Given the description of an element on the screen output the (x, y) to click on. 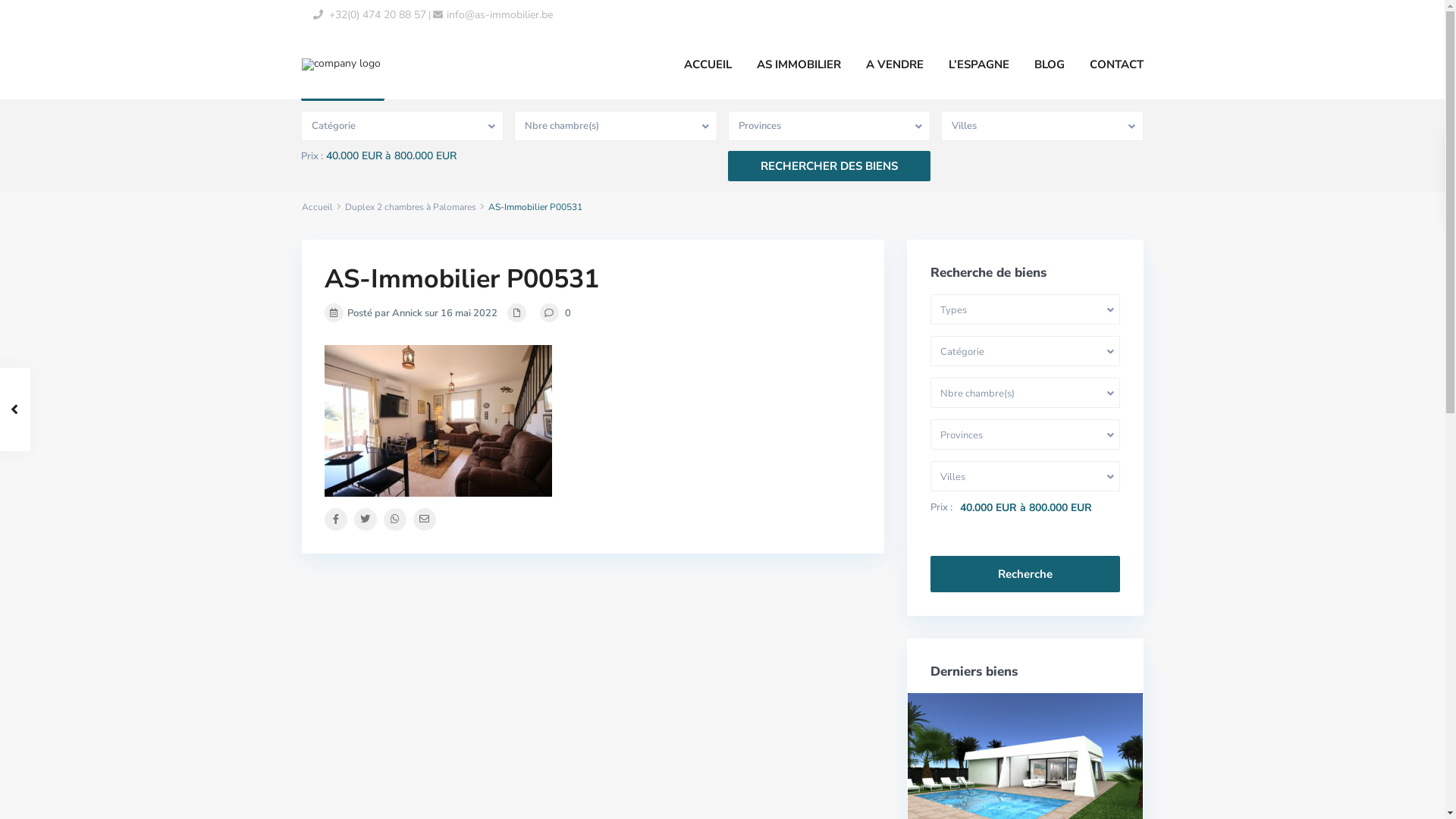
Recherche Element type: text (1024, 573)
A VENDRE Element type: text (893, 64)
BLOG Element type: text (1048, 64)
Espagne Element type: text (342, 84)
RECHERCHER DES BIENS Element type: text (829, 165)
Accueil Element type: text (316, 206)
CONTACT Element type: text (1116, 64)
ACCUEIL Element type: text (706, 64)
AS IMMOBILIER Element type: text (797, 64)
